Given the description of an element on the screen output the (x, y) to click on. 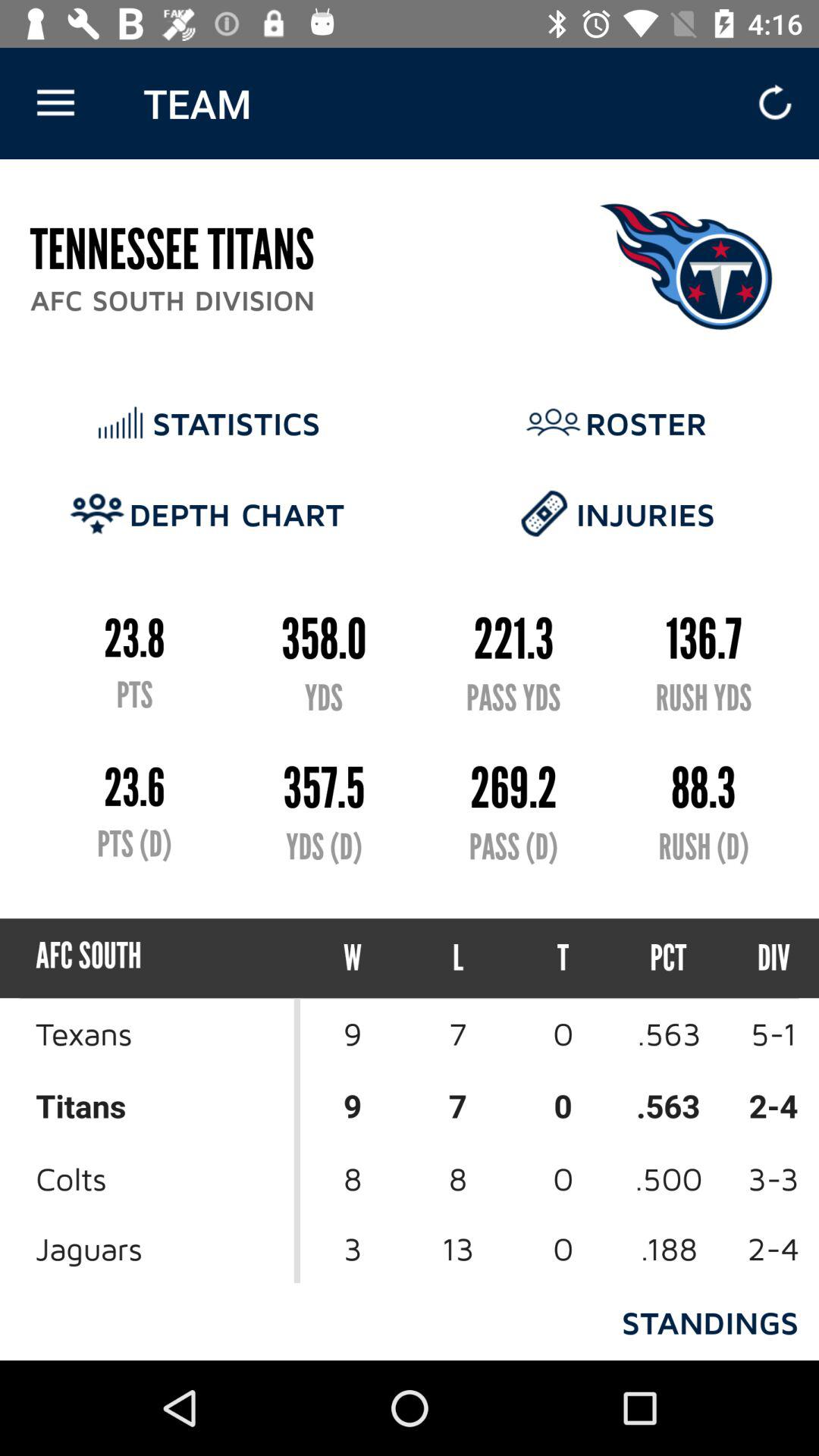
click the icon to the right of l (562, 958)
